Given the description of an element on the screen output the (x, y) to click on. 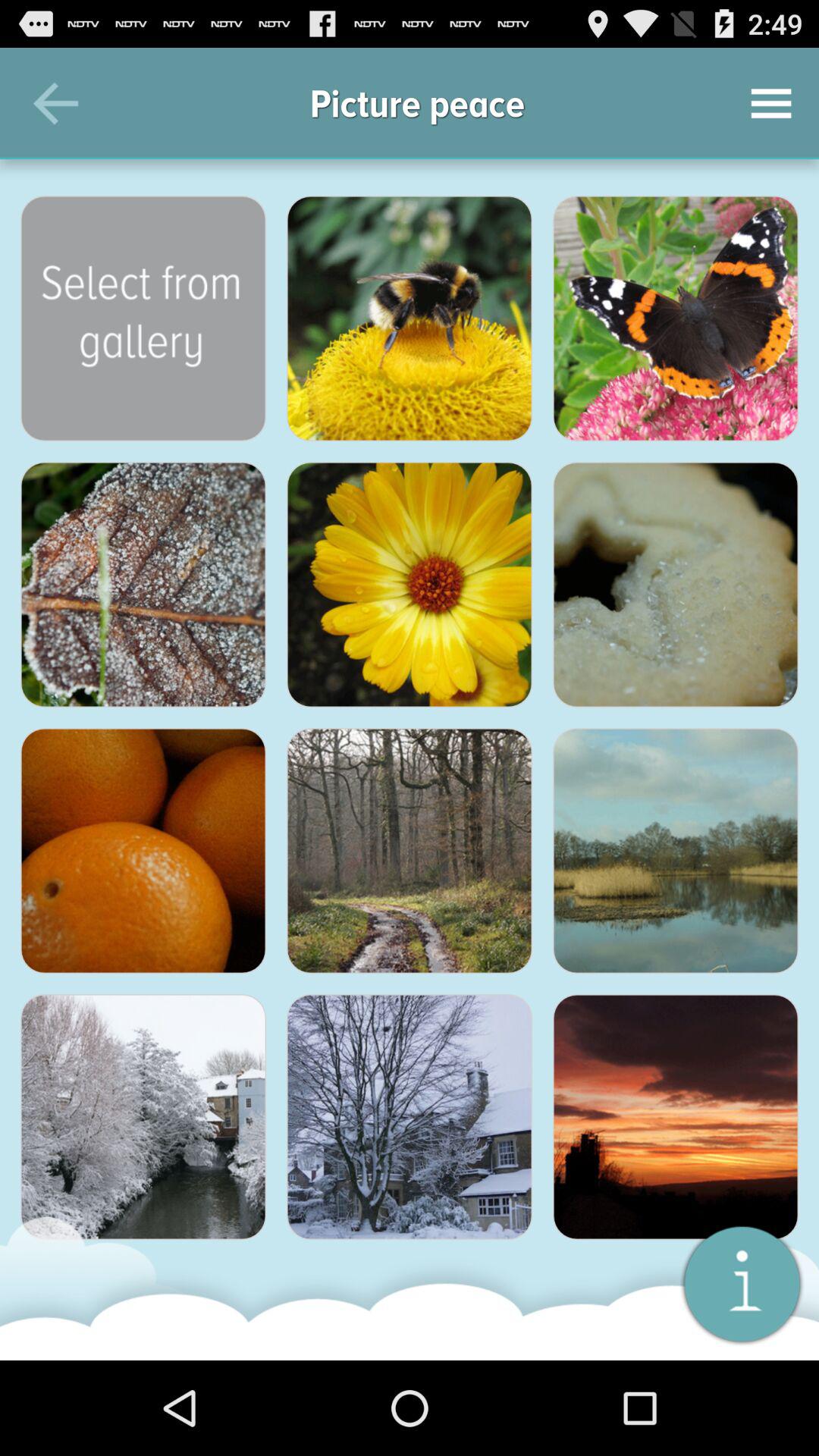
click the icon to the right of picture peace icon (771, 103)
